Given the description of an element on the screen output the (x, y) to click on. 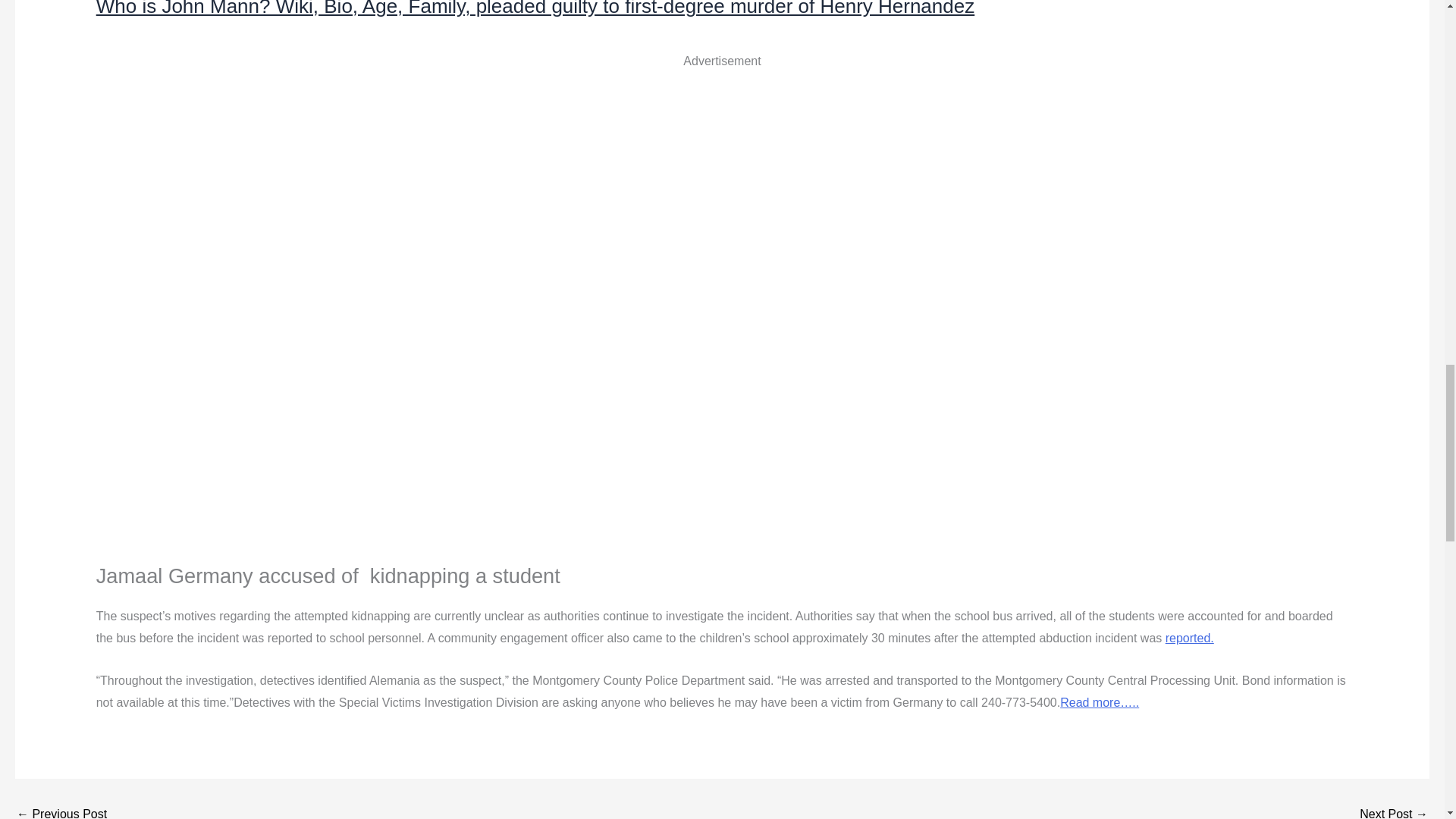
reported. (1190, 637)
